Given the description of an element on the screen output the (x, y) to click on. 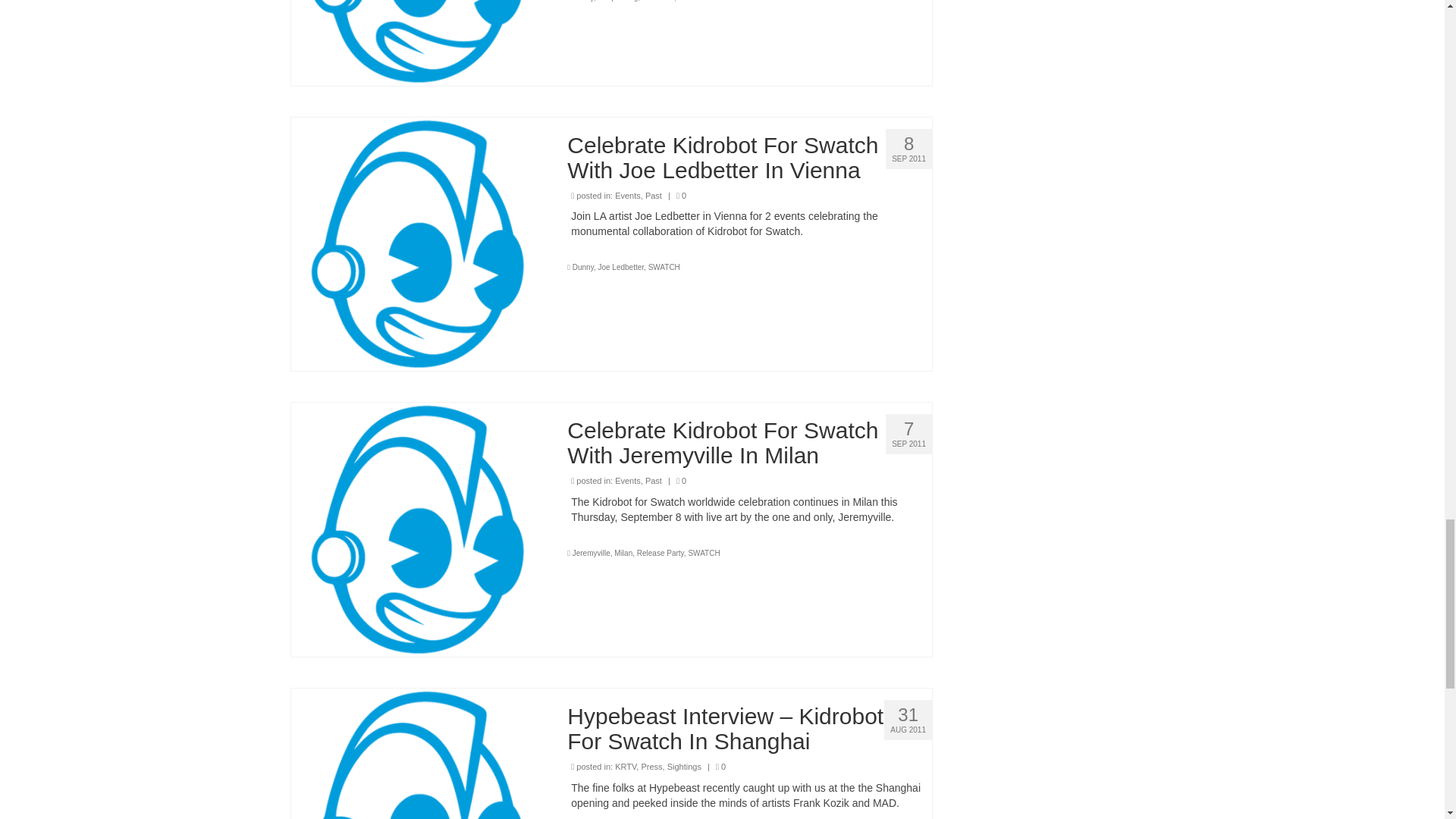
Celebrate Kidrobot For Swatch With Joe Ledbetter In Vienna (417, 243)
Celebrate Kidrobot For Swatch With Jeremyville In Milan (417, 529)
